Given the description of an element on the screen output the (x, y) to click on. 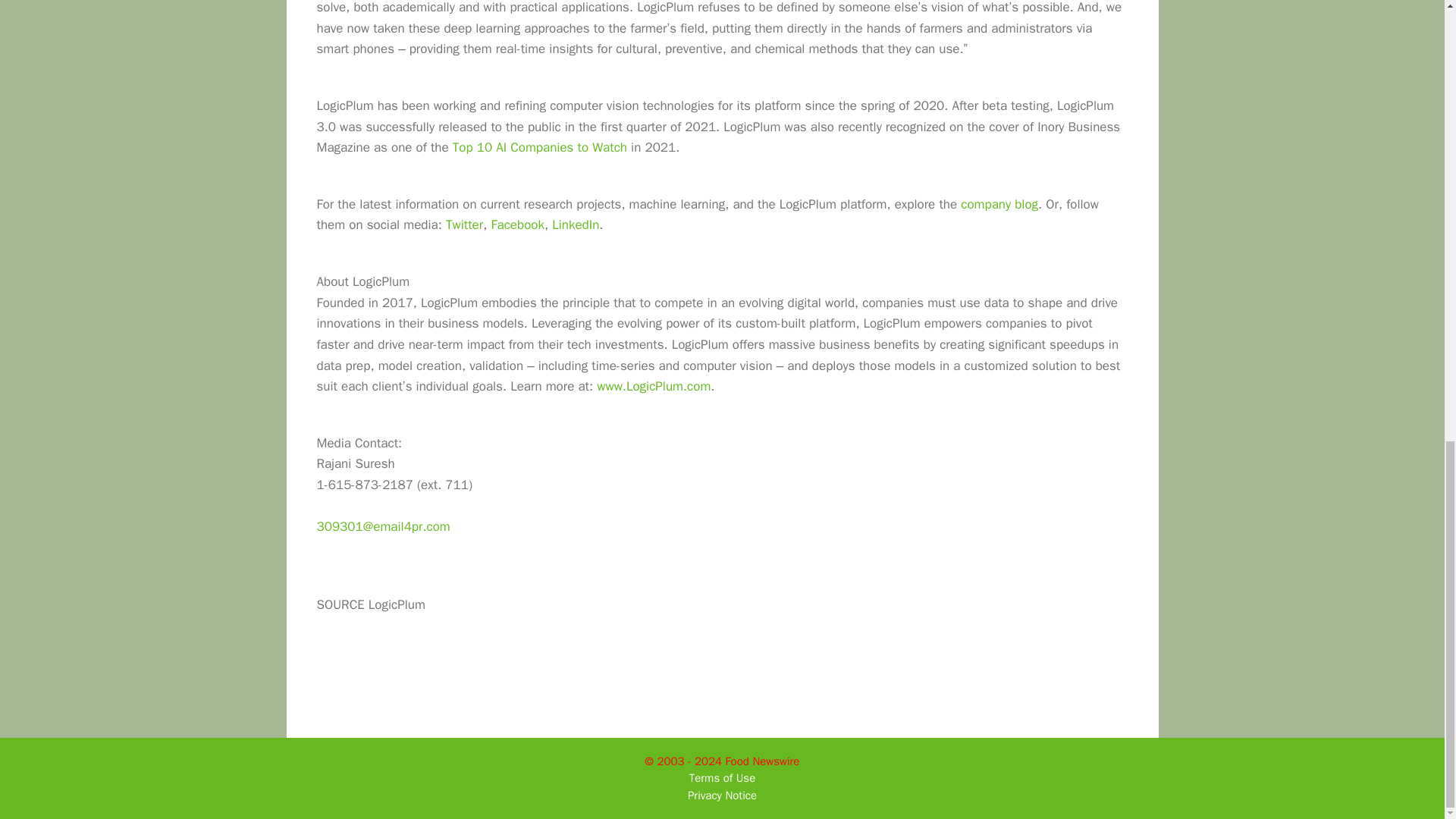
LinkedIn (574, 224)
Terms of Use (721, 777)
Twitter (464, 224)
Privacy Notice (722, 795)
Facebook (517, 224)
company blog (999, 204)
Top 10 AI Companies to Watch (539, 147)
www.LogicPlum.com (653, 385)
